Given the description of an element on the screen output the (x, y) to click on. 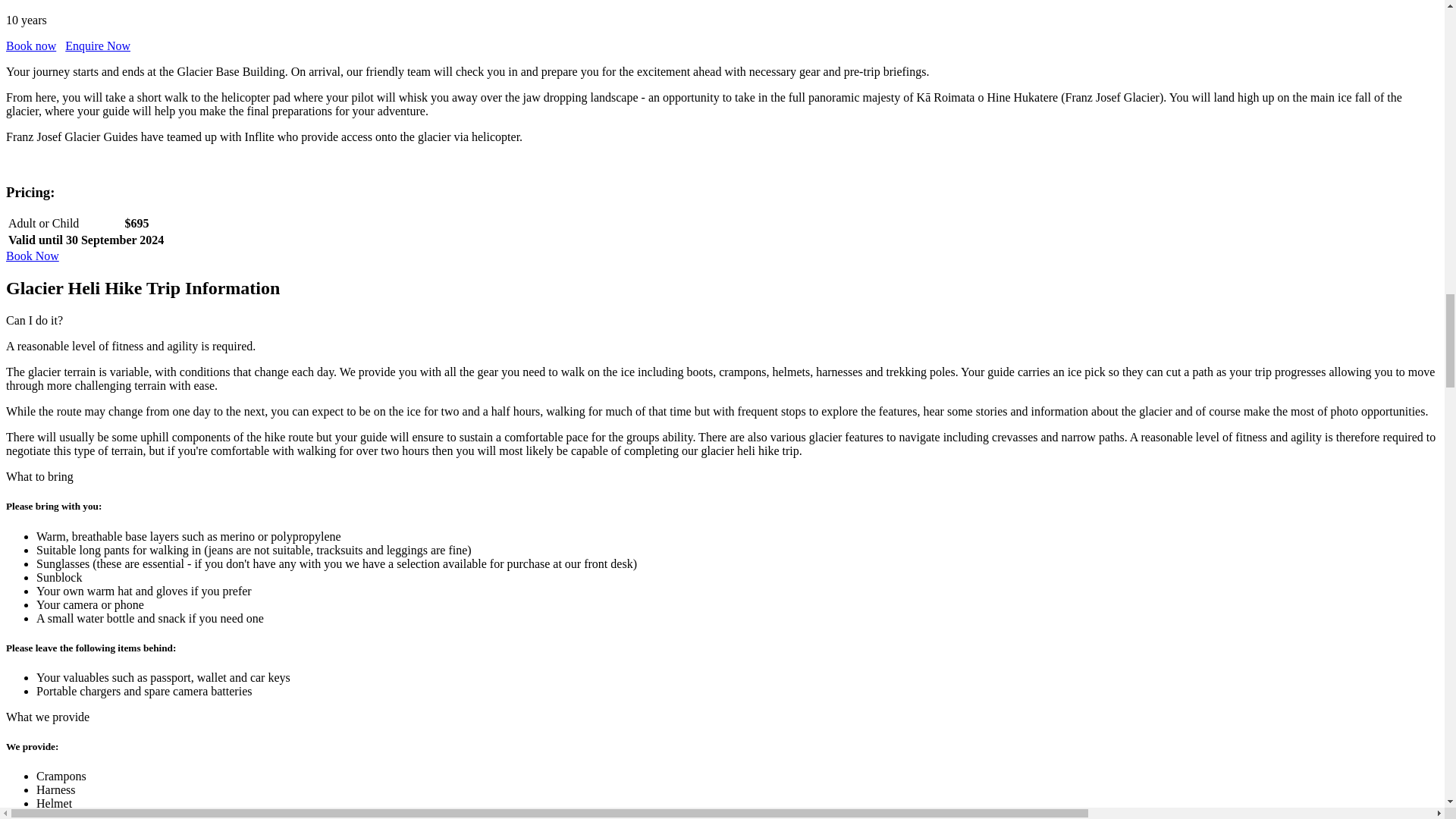
Book now (30, 45)
Enquire Now (98, 45)
Book Now (32, 255)
